Given the description of an element on the screen output the (x, y) to click on. 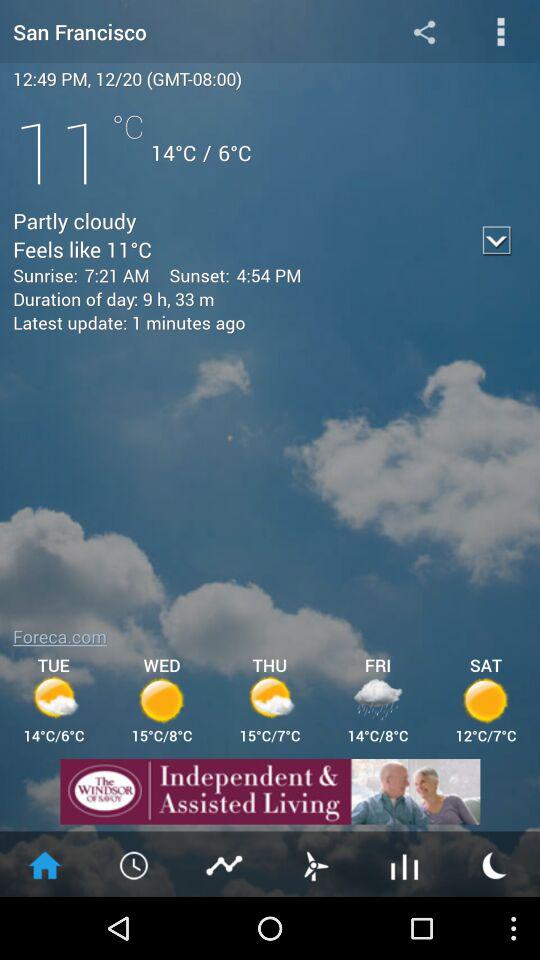
wind speed (315, 864)
